Given the description of an element on the screen output the (x, y) to click on. 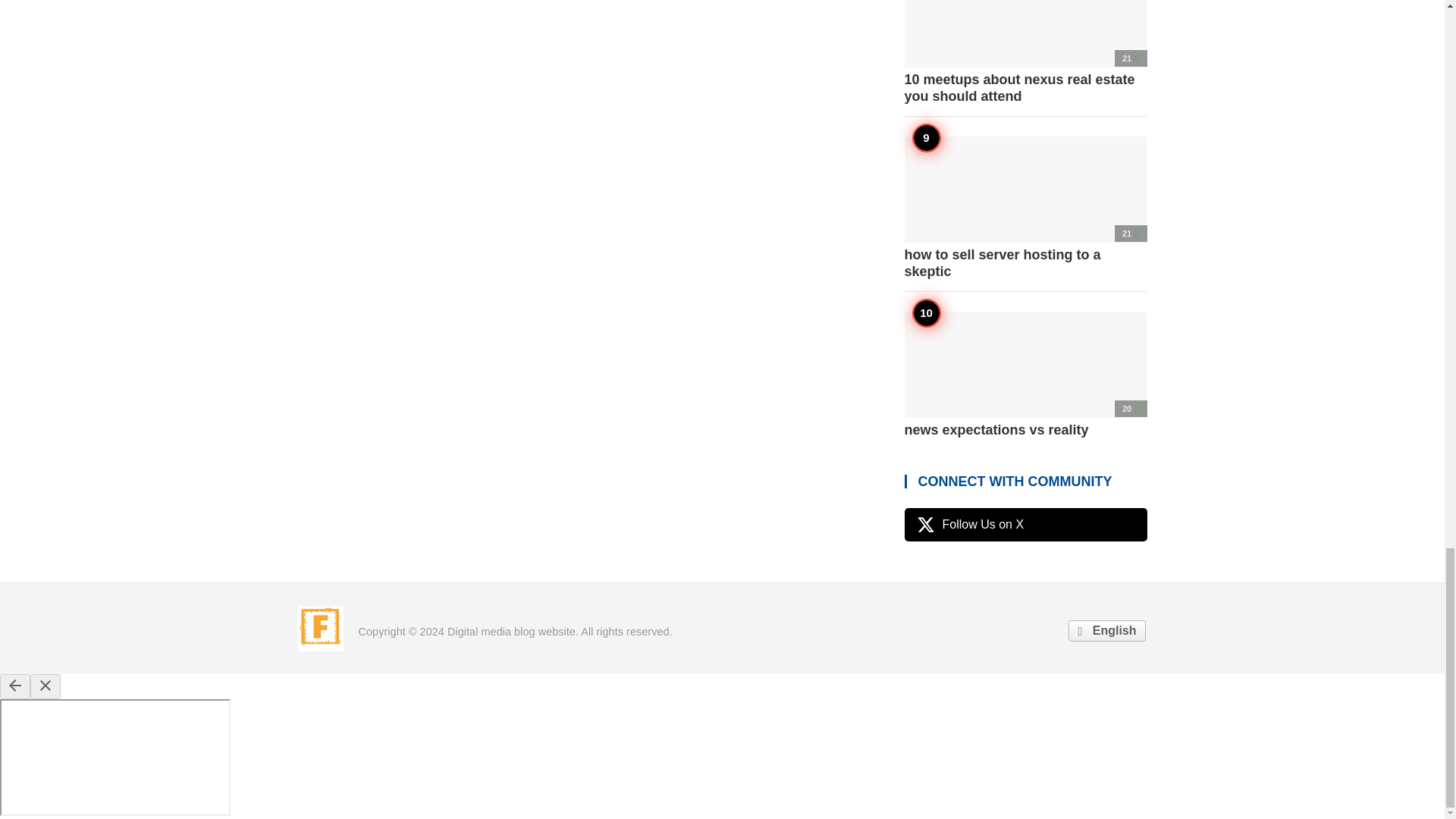
news expectations vs reality (1025, 375)
10 meetups about nexus real estate you should attend (1025, 52)
how to sell server hosting to a skeptic (1025, 207)
